Given the description of an element on the screen output the (x, y) to click on. 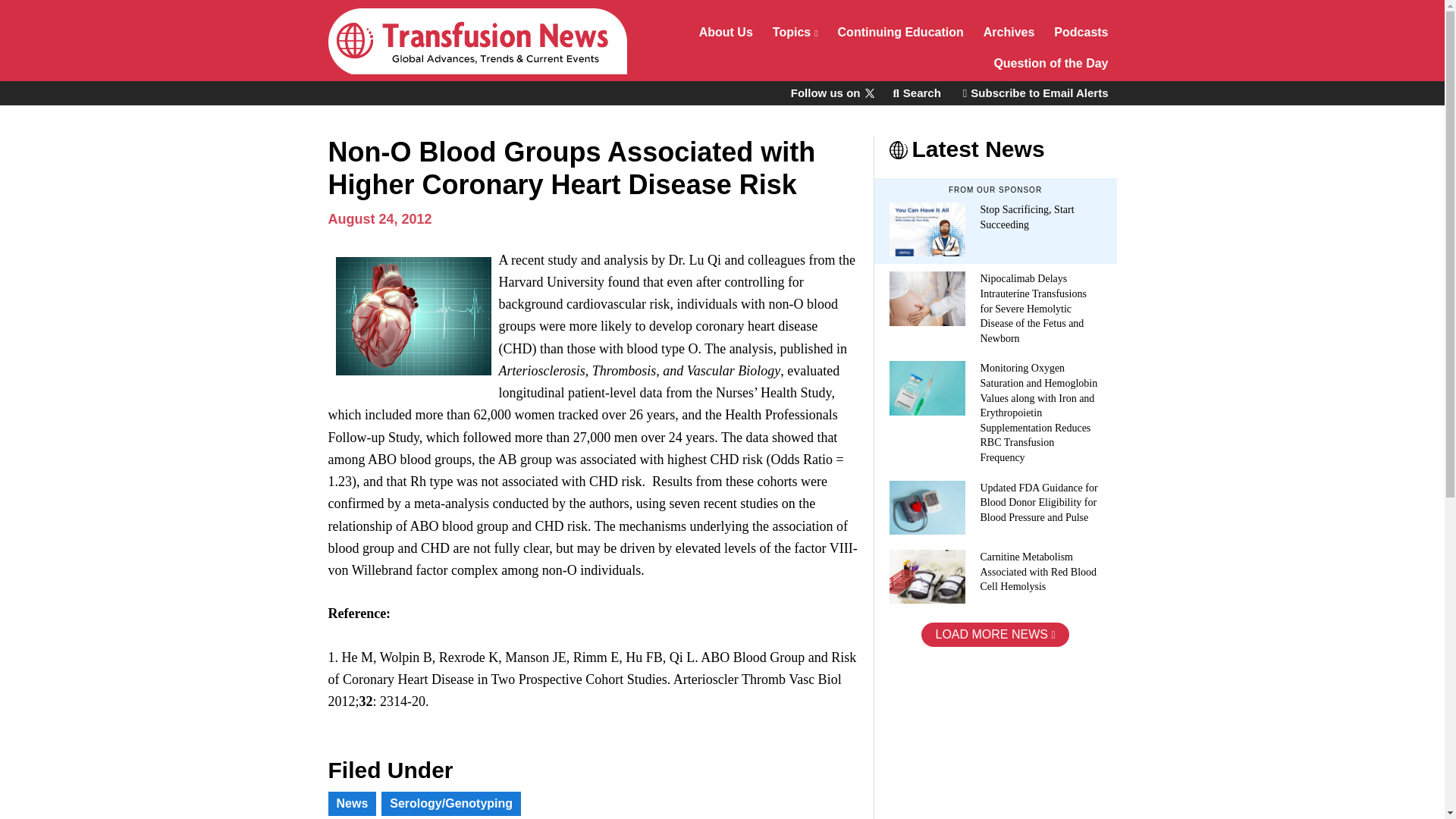
Podcasts (1080, 33)
Follow us on (831, 92)
Question of the Day (1050, 65)
About Us (725, 33)
Subscribe to Email Alerts (1035, 93)
3rd party ad content (986, 746)
Archives (1009, 33)
Search (915, 93)
Topics (795, 33)
News (351, 803)
